Given the description of an element on the screen output the (x, y) to click on. 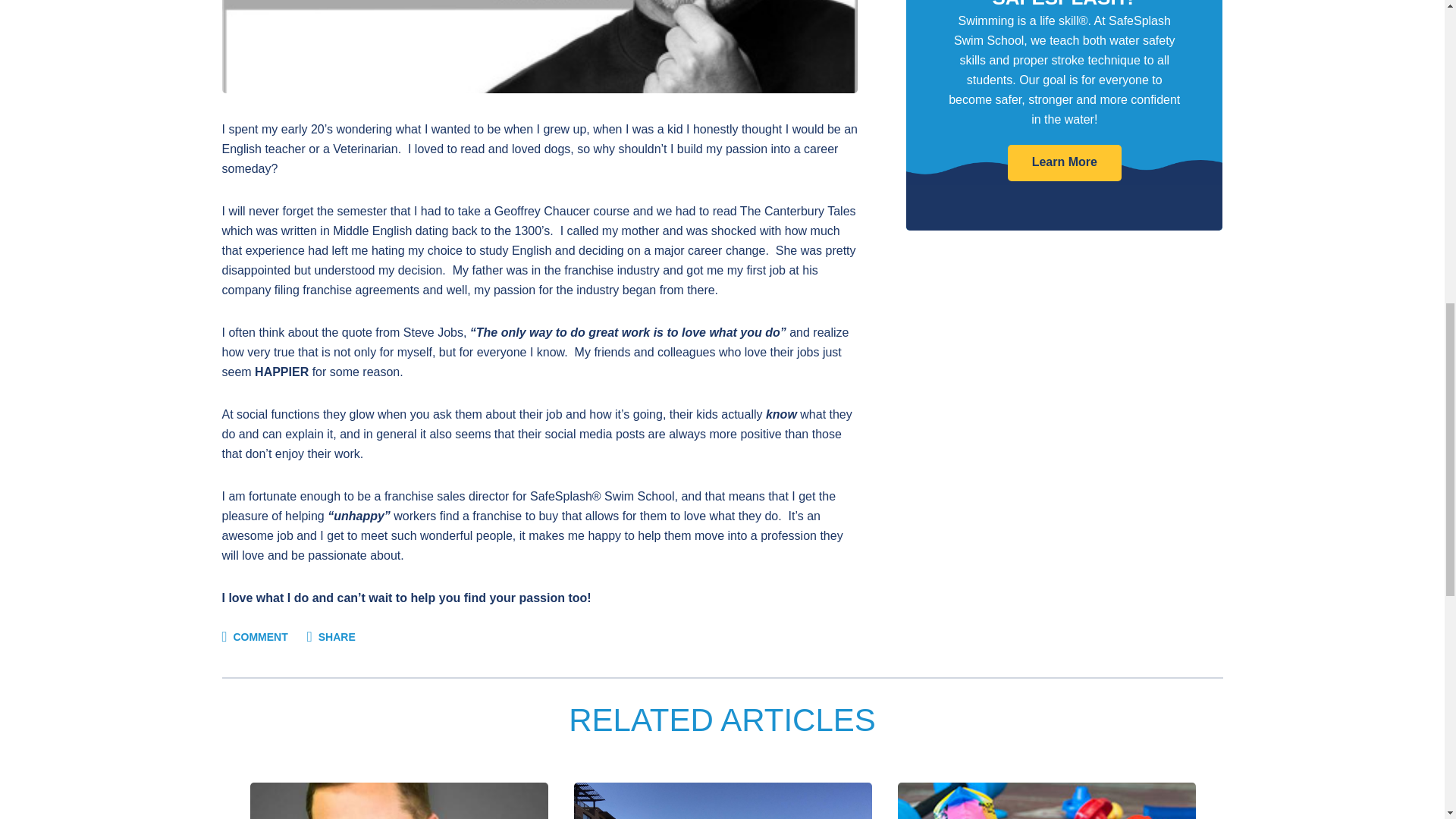
Geoffrey Chaucer (542, 210)
SHARESHARE (331, 636)
The Canterbury Tales (797, 210)
COMMENTCOMMENT (253, 636)
Learn More (1064, 162)
